Given the description of an element on the screen output the (x, y) to click on. 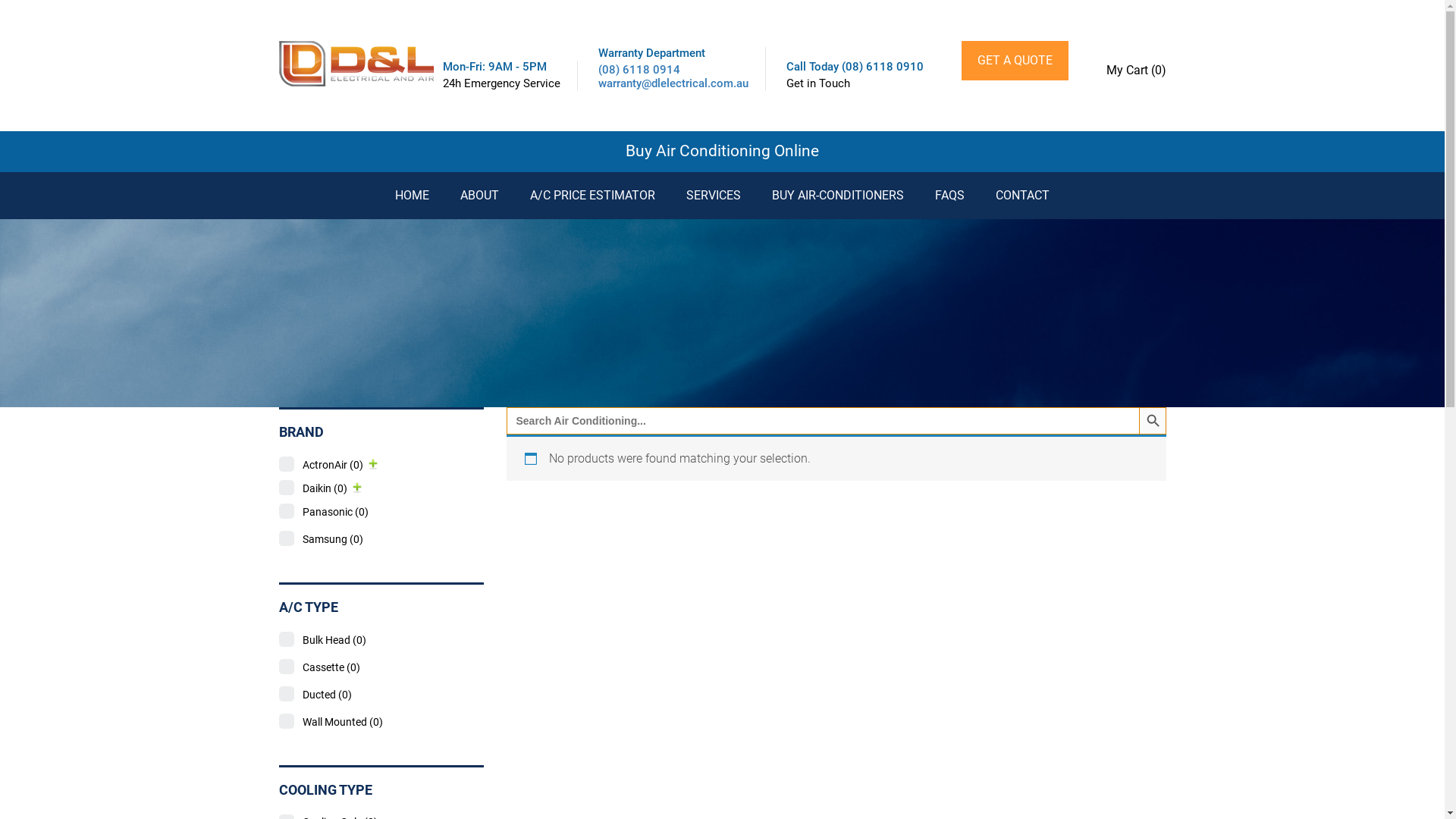
Buy Air Conditioning Online Element type: text (722, 151)
(08) 6118 0914 Element type: text (638, 68)
My Cart (0) Element type: text (1135, 61)
HOME Element type: text (412, 194)
BUY AIR-CONDITIONERS Element type: text (837, 194)
FAQS Element type: text (949, 194)
D&L Electrical and Air Element type: hover (356, 62)
ABOUT Element type: text (479, 194)
A/C PRICE ESTIMATOR Element type: text (592, 194)
CONTACT Element type: text (1022, 194)
GET A QUOTE Element type: text (1014, 60)
warranty@dlelectrical.com.au Element type: text (672, 82)
SERVICES Element type: text (713, 194)
Call Today (08) 6118 0910 Element type: text (853, 66)
